Given the description of an element on the screen output the (x, y) to click on. 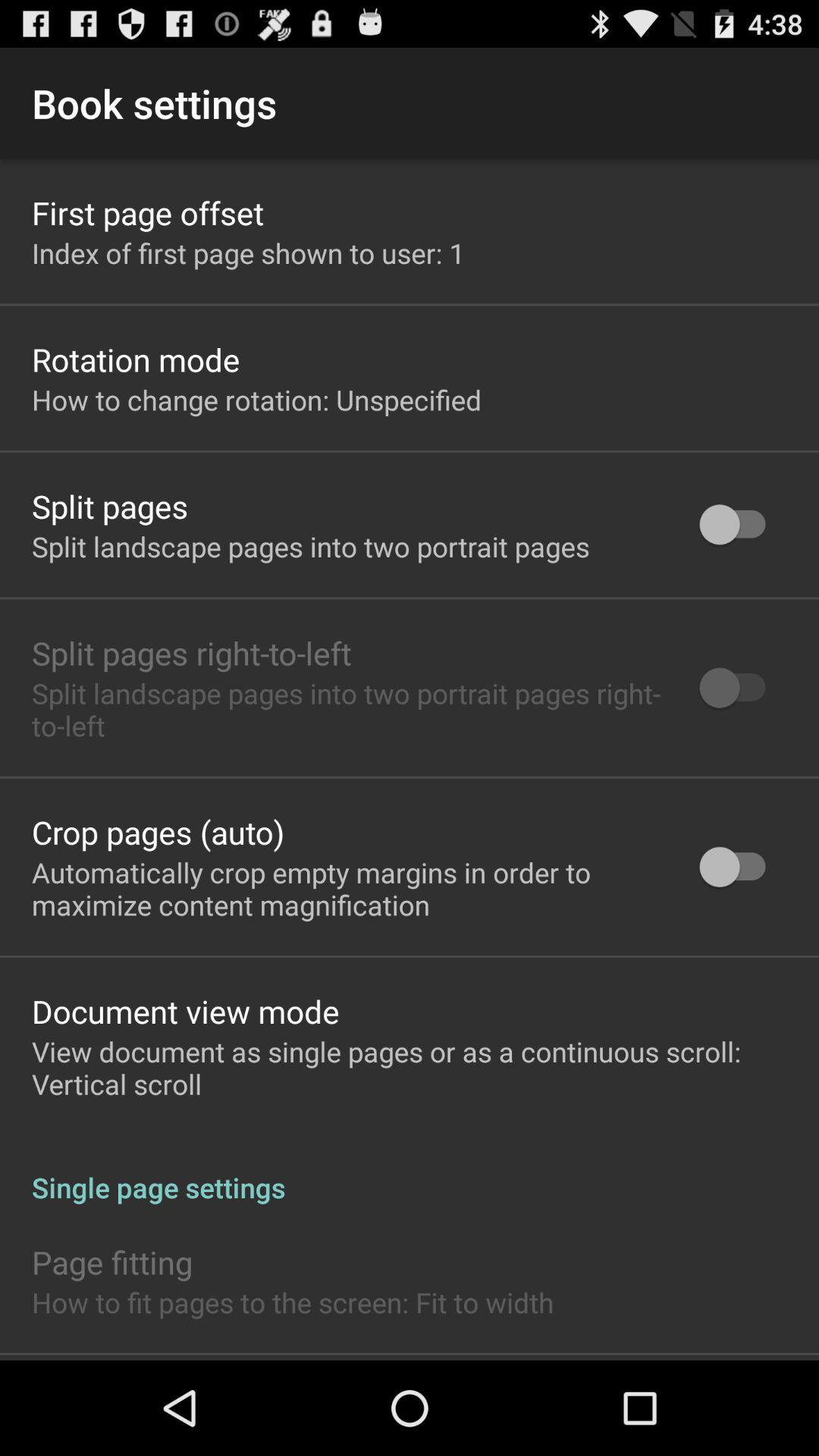
press app above the automatically crop empty icon (157, 831)
